Given the description of an element on the screen output the (x, y) to click on. 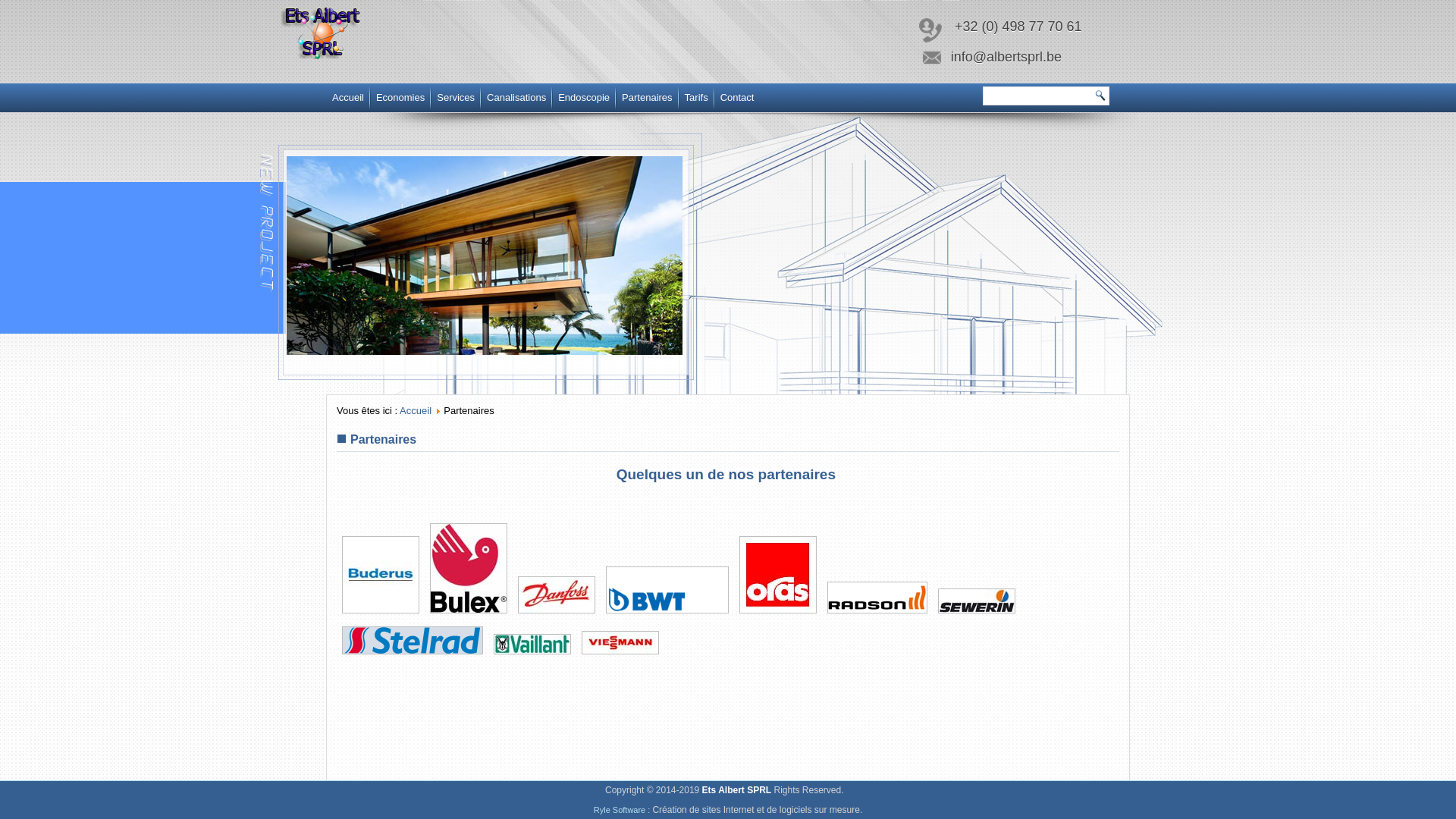
4 Element type: text (503, 367)
Tarifs Element type: text (696, 97)
Ryle Software : Element type: text (622, 809)
Economies Element type: text (399, 97)
2 Element type: text (466, 367)
Services Element type: text (455, 97)
Contact Element type: text (737, 97)
Partenaires Element type: text (646, 97)
1 Element type: text (447, 367)
Accueil Element type: text (347, 97)
Accueil Element type: text (415, 410)
5 Element type: text (522, 367)
Endoscopie Element type: text (583, 97)
Canalisations Element type: text (516, 97)
3 Element type: text (484, 367)
